Given the description of an element on the screen output the (x, y) to click on. 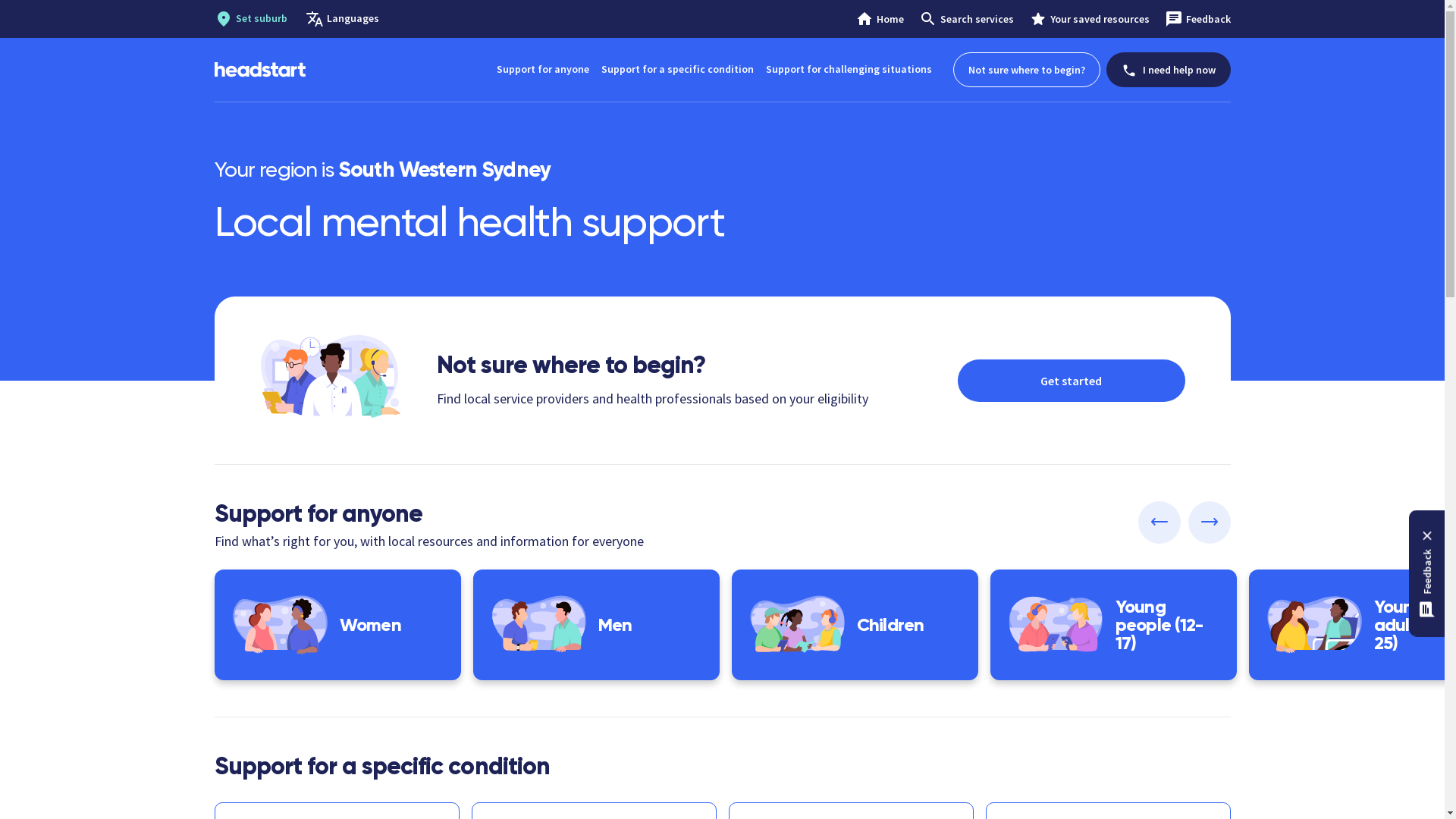
Men Element type: text (596, 624)
Your saved resources Element type: text (1088, 18)
Support for anyone Element type: text (541, 69)
Feedback Element type: text (1197, 18)
Languages Element type: text (352, 18)
Support for a specific condition Element type: text (676, 69)
I need help now Element type: text (1167, 69)
Set suburb Element type: text (260, 18)
Young people (12-17) Element type: text (1113, 624)
Not sure where to begin? Element type: text (1025, 69)
Home Element type: text (879, 18)
Search services Element type: text (966, 18)
Support for challenging situations Element type: text (848, 69)
Children Element type: text (854, 624)
Women Element type: text (336, 624)
Get started Element type: text (1070, 380)
